Given the description of an element on the screen output the (x, y) to click on. 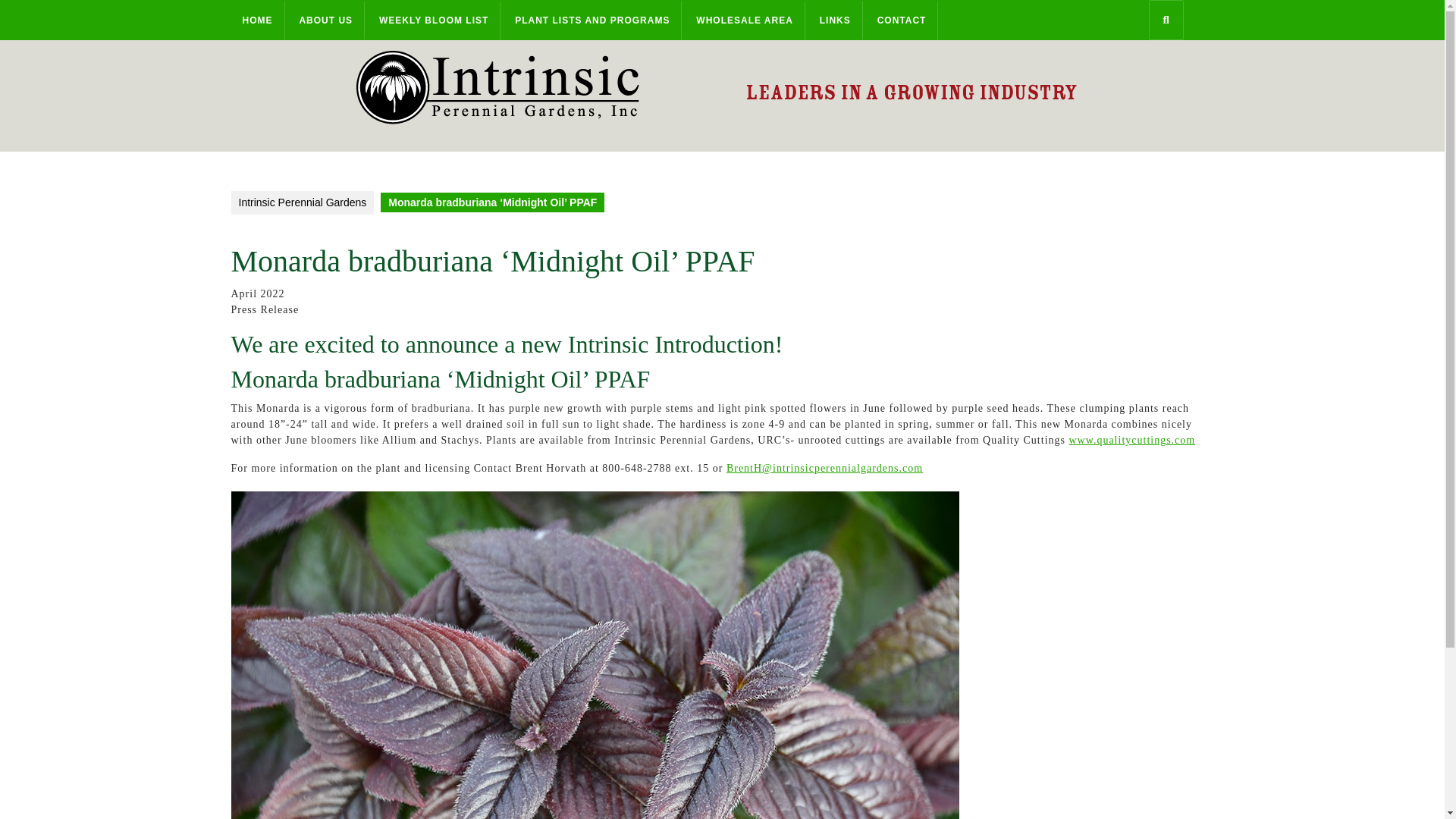
Intrinsic Perennial Gardens (302, 202)
WEEKLY BLOOM LIST (434, 20)
LINKS (835, 20)
www.qualitycuttings.com (1131, 439)
ABOUT US (325, 20)
HOME (256, 20)
CONTACT (902, 20)
PLANT LISTS AND PROGRAMS (592, 20)
WHOLESALE AREA (744, 20)
